Given the description of an element on the screen output the (x, y) to click on. 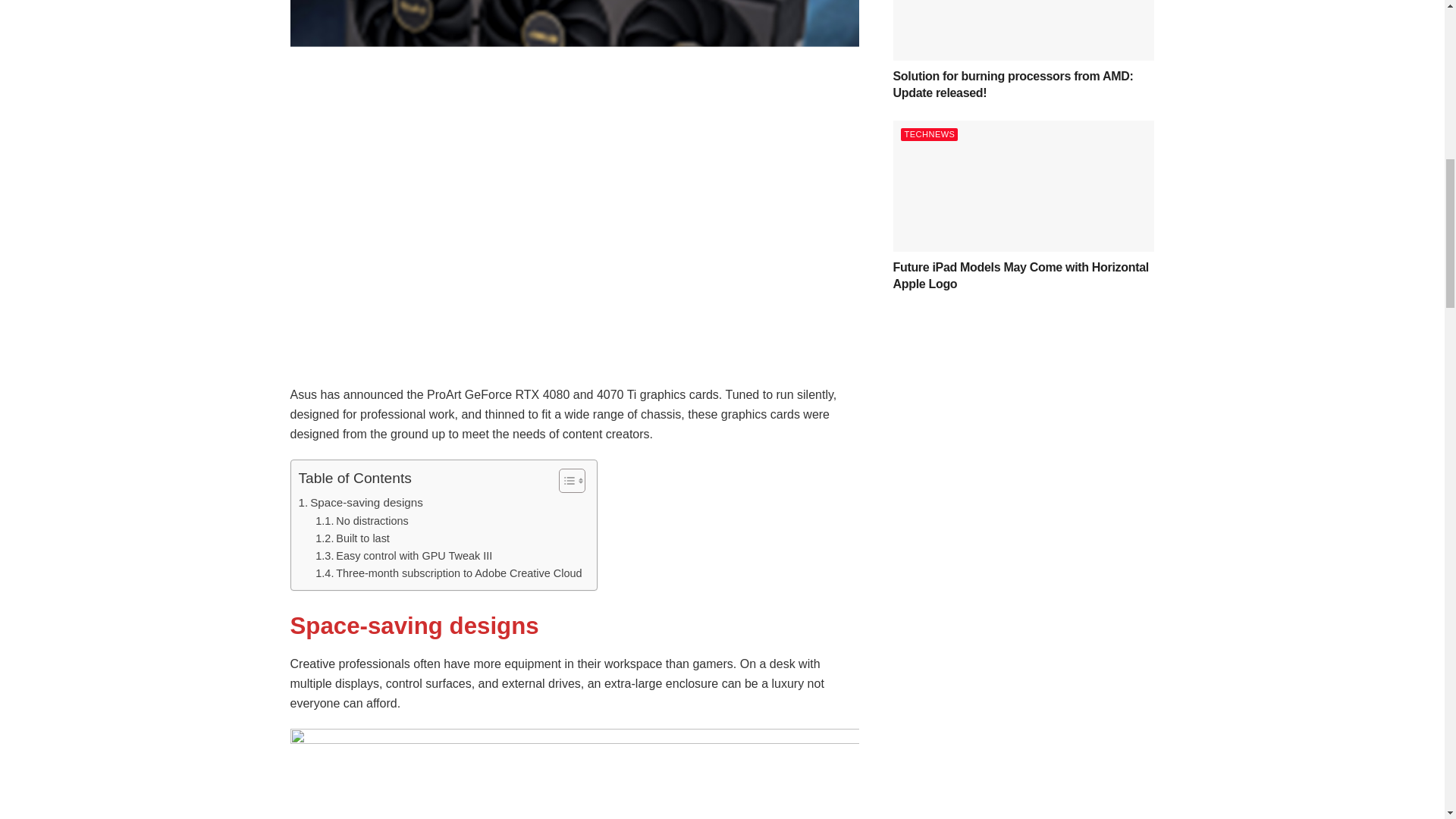
Three-month subscription to Adobe Creative Cloud (447, 573)
Space-saving designs (360, 502)
No distractions (361, 520)
Three-month subscription to Adobe Creative Cloud (447, 573)
No distractions (361, 520)
Built to last (352, 538)
Space-saving designs (360, 502)
Easy control with GPU Tweak III (403, 556)
Built to last (352, 538)
Easy control with GPU Tweak III (403, 556)
